Given the description of an element on the screen output the (x, y) to click on. 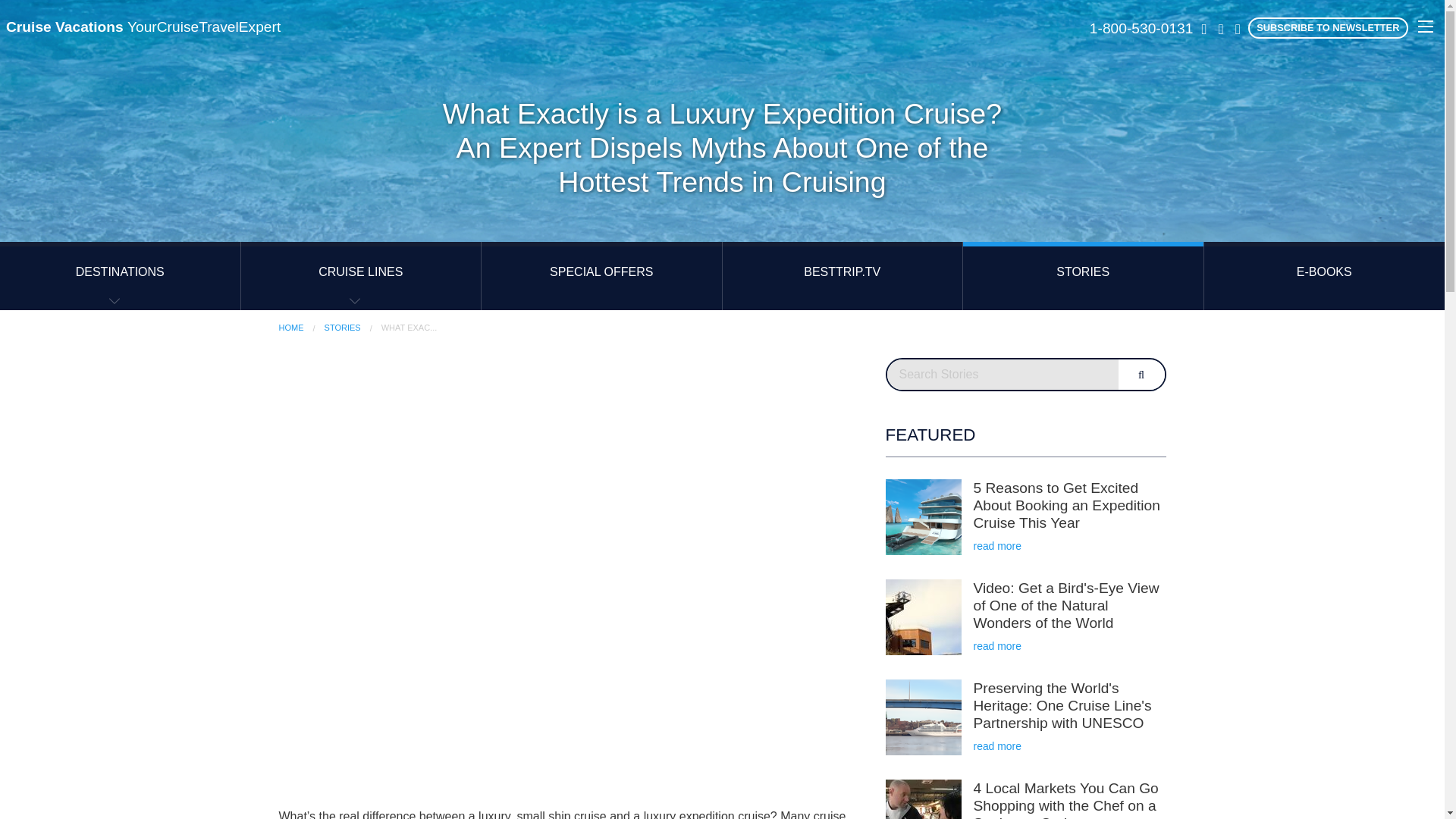
1-800-530-0131 (1140, 29)
CRUISE LINES (361, 275)
SUBSCRIBE TO NEWSLETTER (1327, 27)
Cruise Vacations YourCruiseTravelExpert (143, 26)
DESTINATIONS (120, 275)
